Given the description of an element on the screen output the (x, y) to click on. 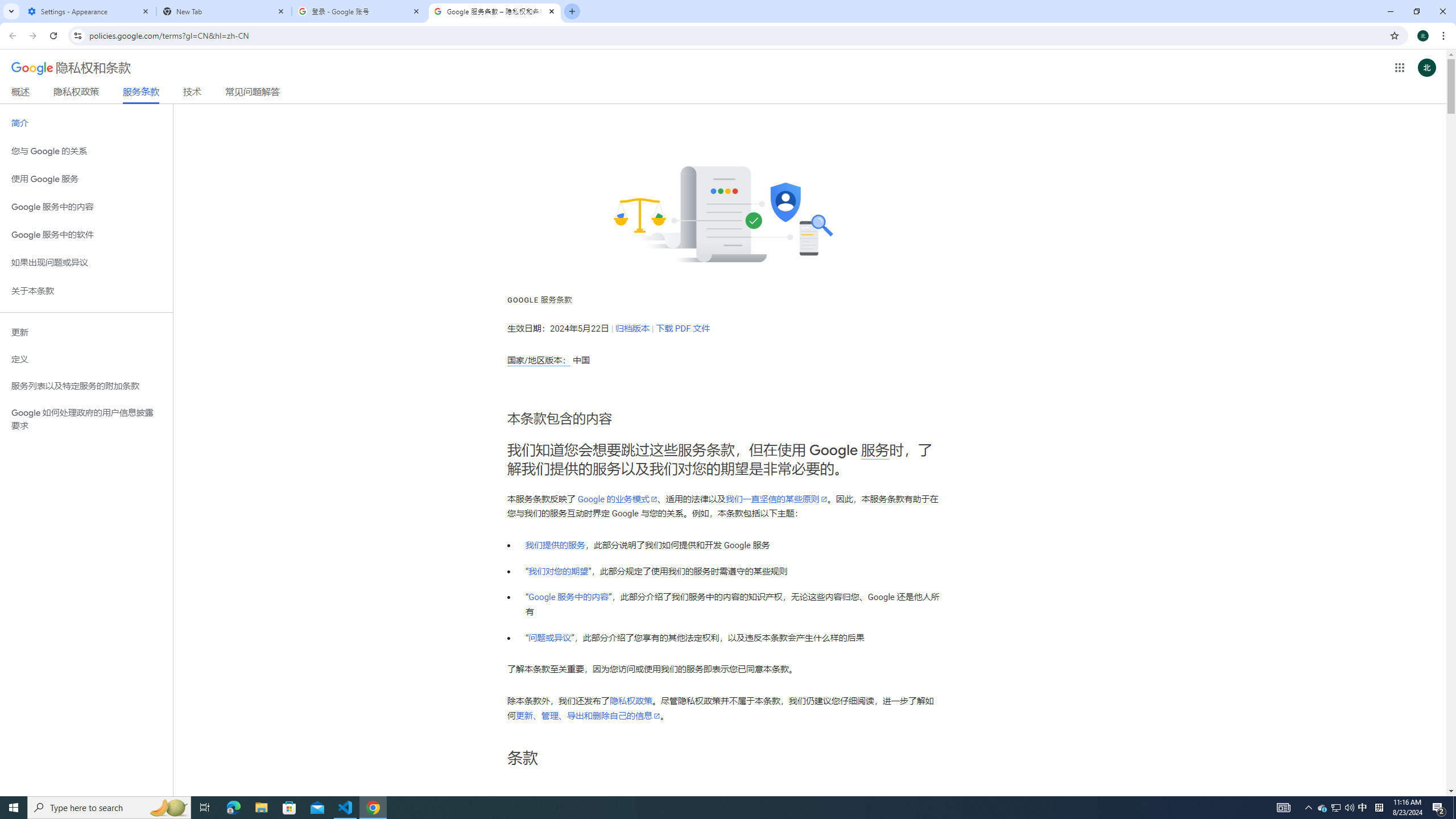
Settings - Appearance (88, 11)
New Tab (224, 11)
